Given the description of an element on the screen output the (x, y) to click on. 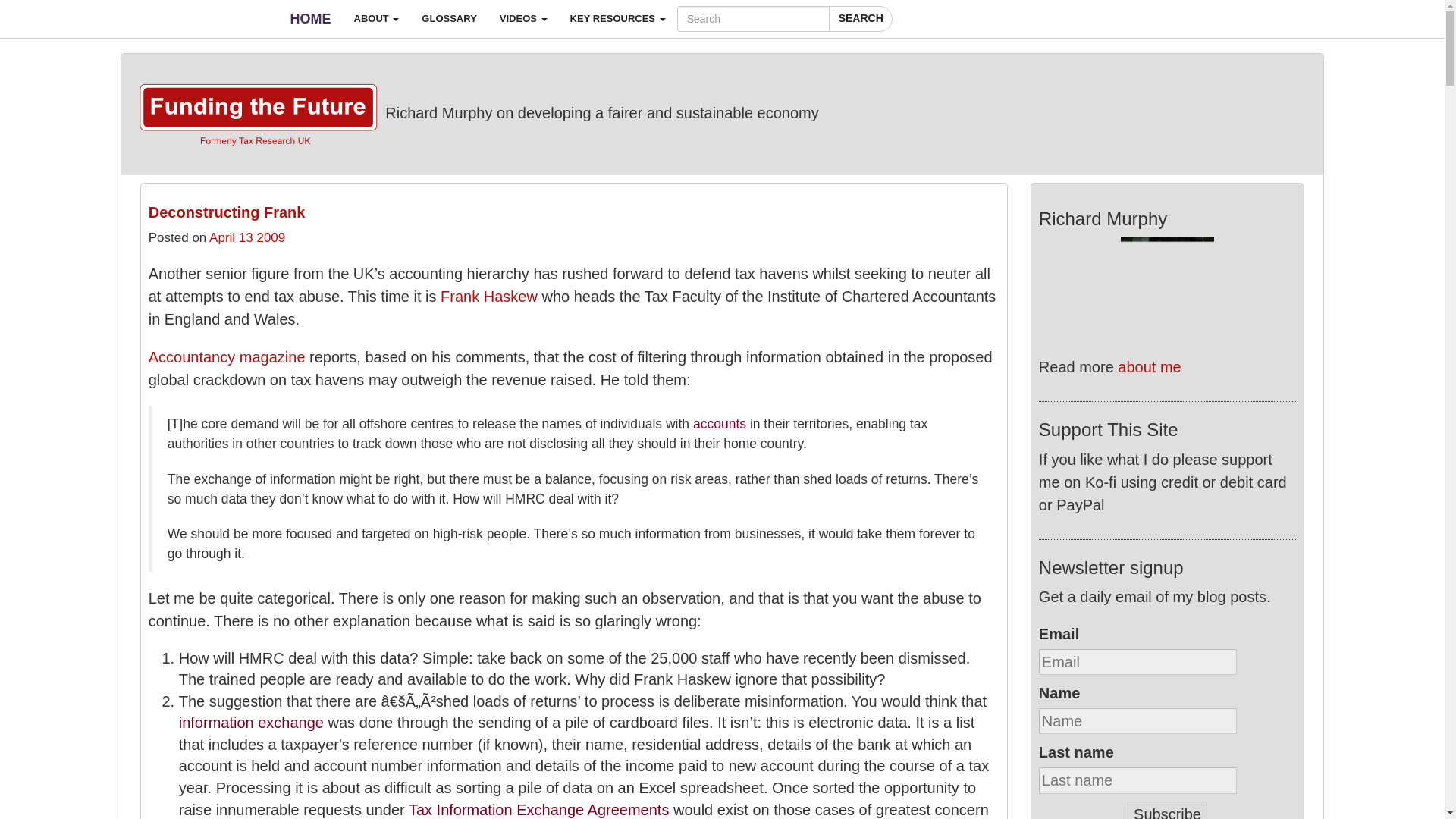
Subscribe (1166, 810)
April 13 2009 (247, 237)
GLOSSARY (448, 18)
HOME (310, 18)
HOME (310, 18)
accounts (719, 423)
Tax Information Exchange Agreements (539, 809)
Search (860, 18)
Accountancy magazine (226, 356)
Deconstructing Frank (226, 211)
Search (860, 18)
KEY RESOURCES (618, 18)
Videos (523, 18)
About (376, 18)
ABOUT (376, 18)
